Given the description of an element on the screen output the (x, y) to click on. 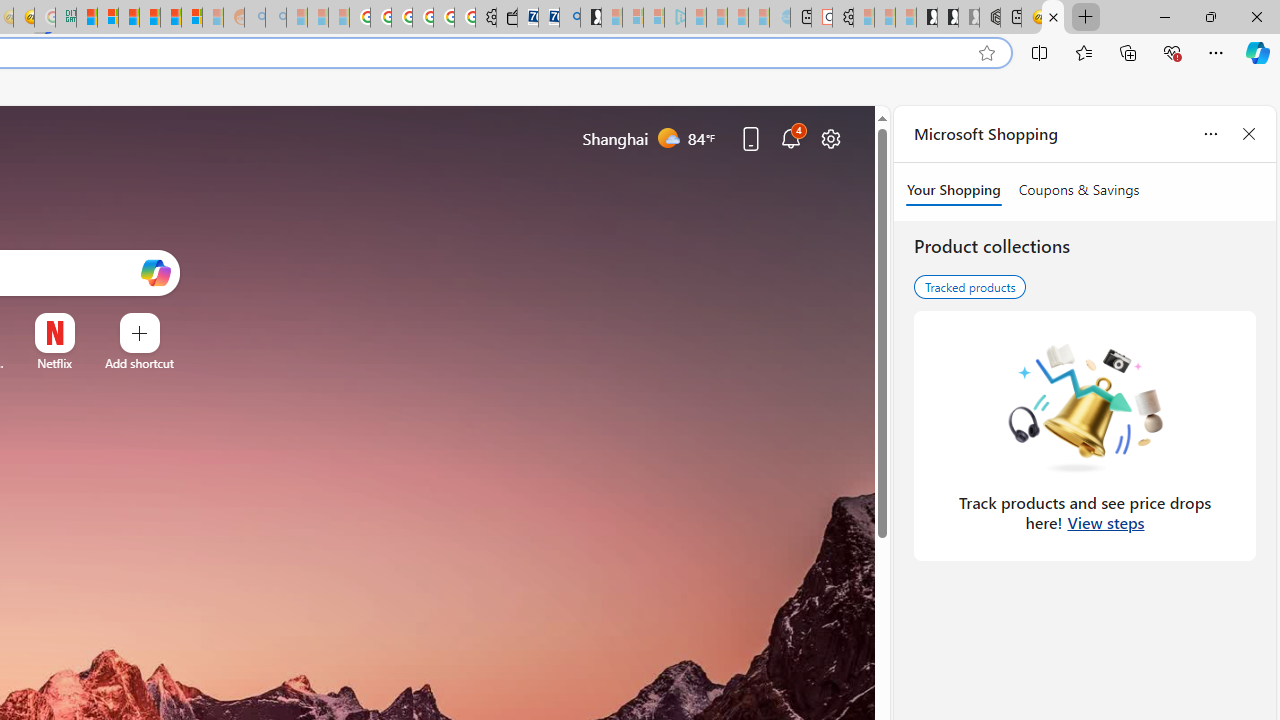
Kinda Frugal - MSN (170, 17)
